Given the description of an element on the screen output the (x, y) to click on. 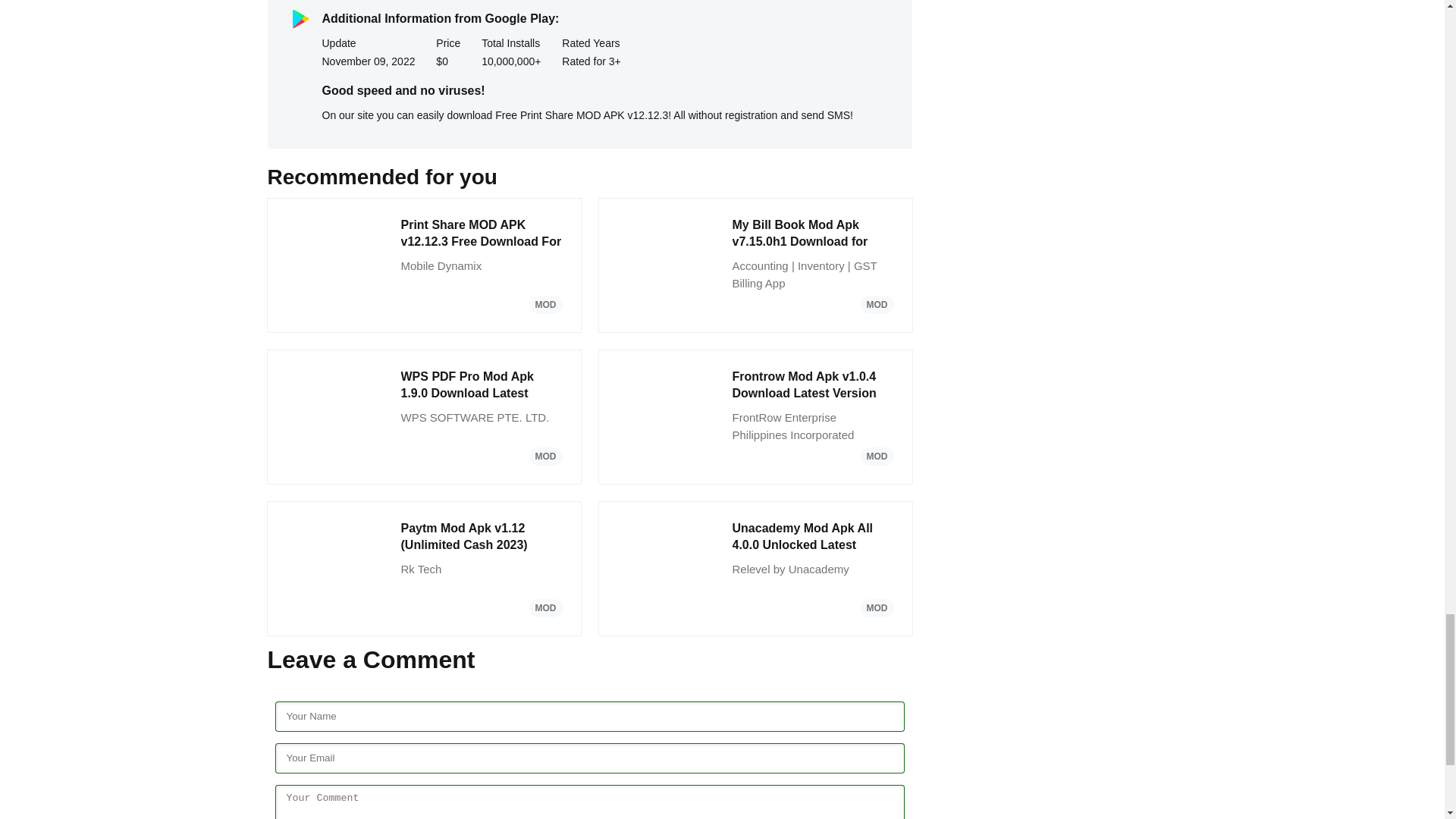
Print Share MOD APK v12.12.3 Free Download For Android (481, 233)
WPS PDF Pro Mod Apk 1.9.0 Download Latest Version 2023 (481, 385)
WPS PDF Pro Mod Apk 1.9.0 Download Latest Version 2023 (481, 385)
Frontrow Mod Apk v1.0.4 Download Latest Version For Android (812, 385)
Frontrow Mod Apk V1.0.4 Download Latest Version For Android (812, 385)
Print Share MOD APK V12.12.3 Free Download For Android (481, 233)
My Bill Book Mod Apk V7.15.0h1 Download For Android (812, 233)
My Bill Book Mod Apk v7.15.0h1 Download for Android (812, 233)
Unacademy Mod Apk All 4.0.0 Unlocked Latest Version (812, 537)
